Given the description of an element on the screen output the (x, y) to click on. 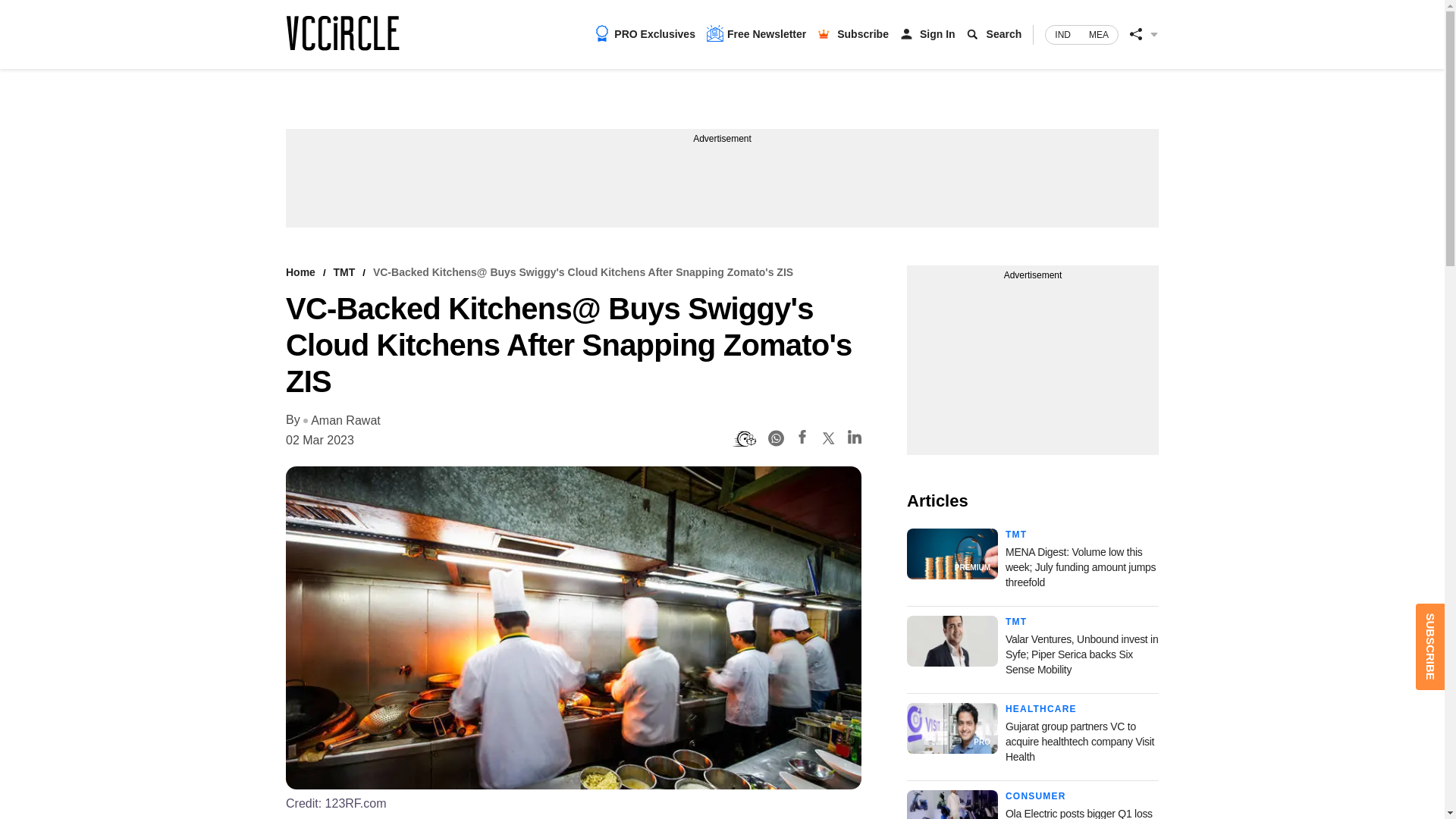
Free Newsletter (756, 33)
MEA (1099, 34)
IND (1062, 34)
Stay Home. Read Quality News (341, 32)
TMT (344, 272)
Sign In (937, 33)
Aman Rawat (341, 420)
PRO Exclusives (644, 33)
Subscribe (862, 33)
Home (300, 272)
